Given the description of an element on the screen output the (x, y) to click on. 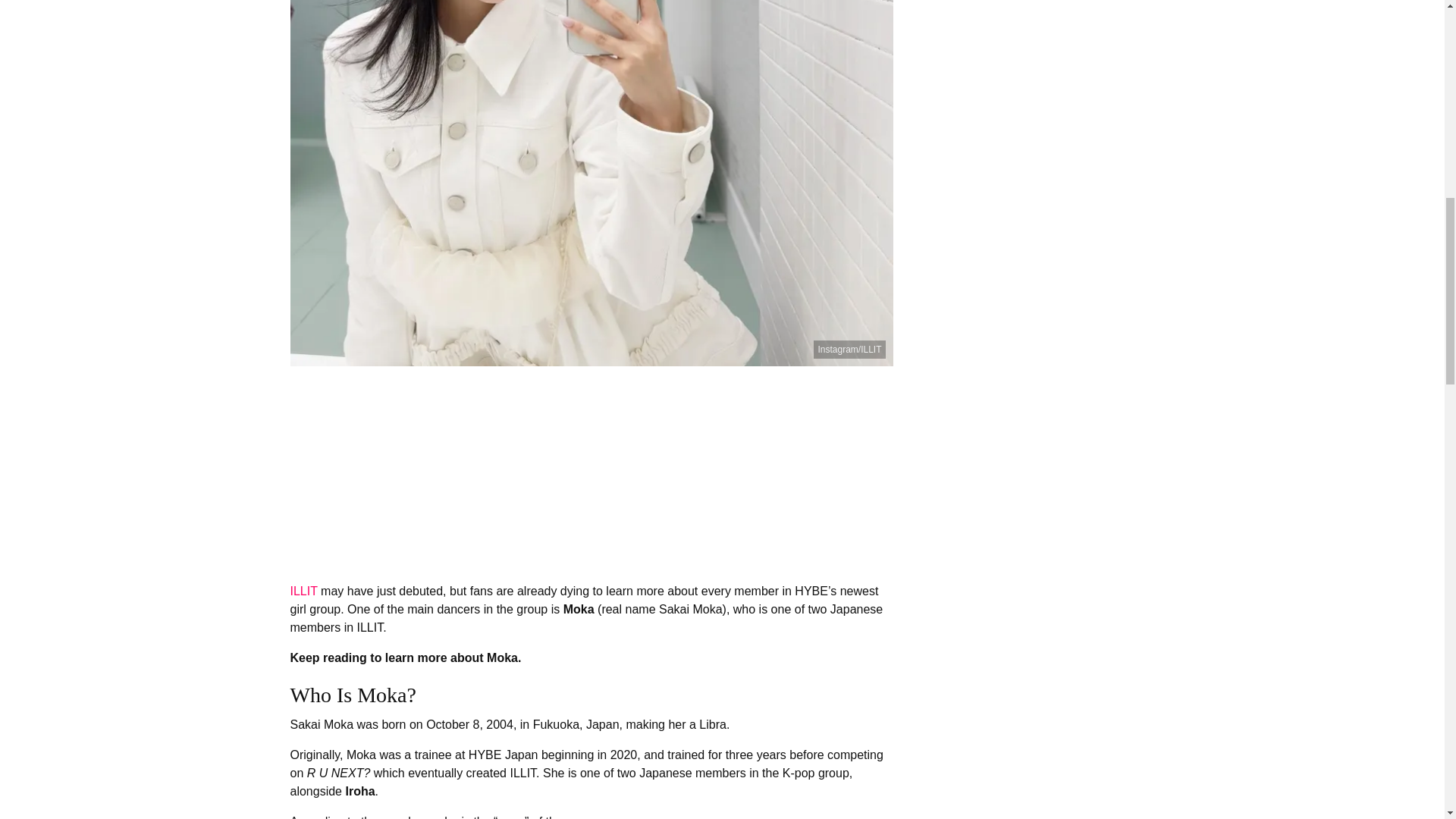
ILLIT (303, 590)
